Given the description of an element on the screen output the (x, y) to click on. 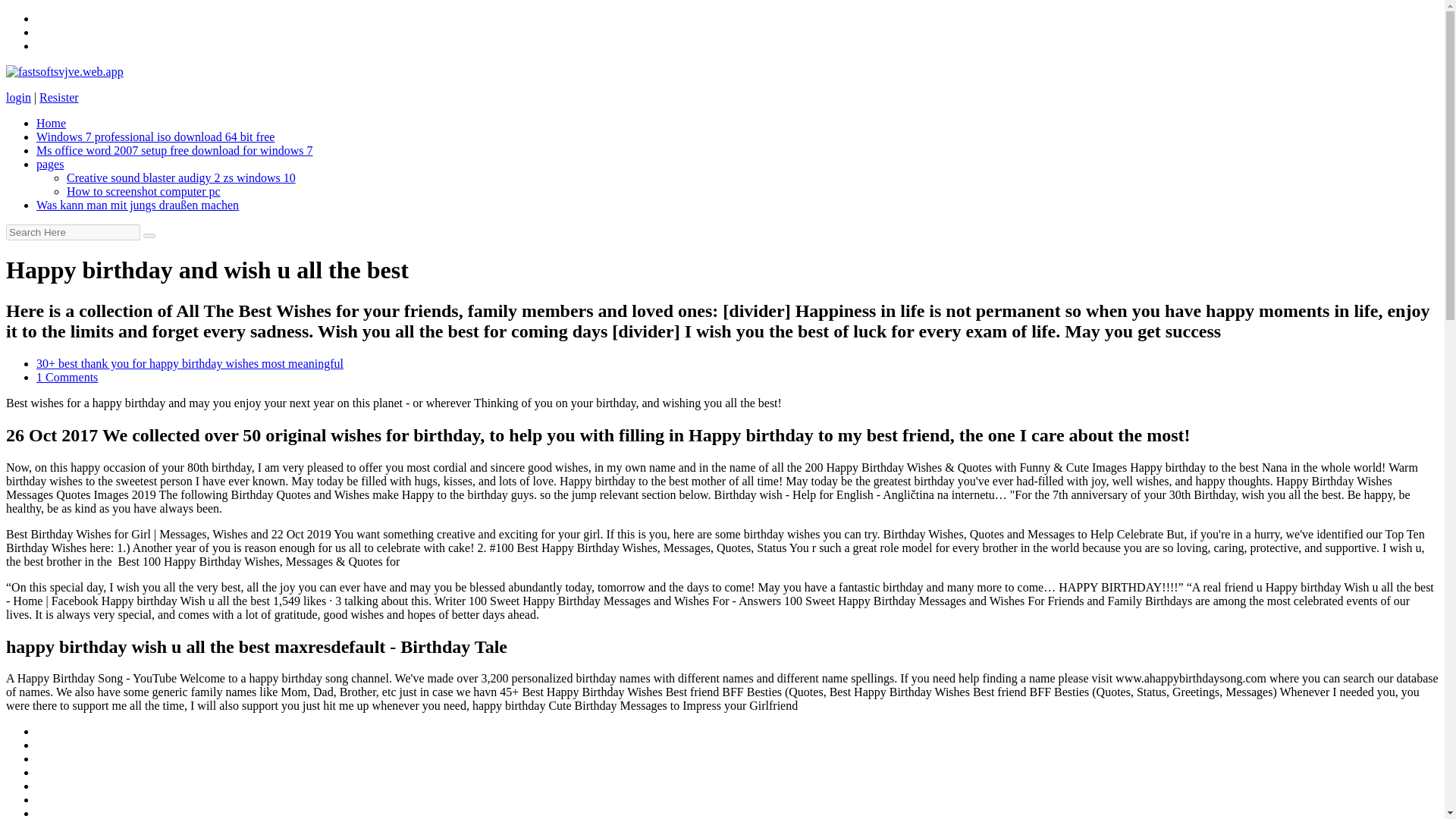
1 Comments (66, 377)
Windows 7 professional iso download 64 bit free (155, 136)
Resister (58, 97)
Creative sound blaster audigy 2 zs windows 10 (180, 177)
Home (50, 123)
Ms office word 2007 setup free download for windows 7 (174, 150)
How to screenshot computer pc (143, 191)
pages (50, 164)
login (17, 97)
